Given the description of an element on the screen output the (x, y) to click on. 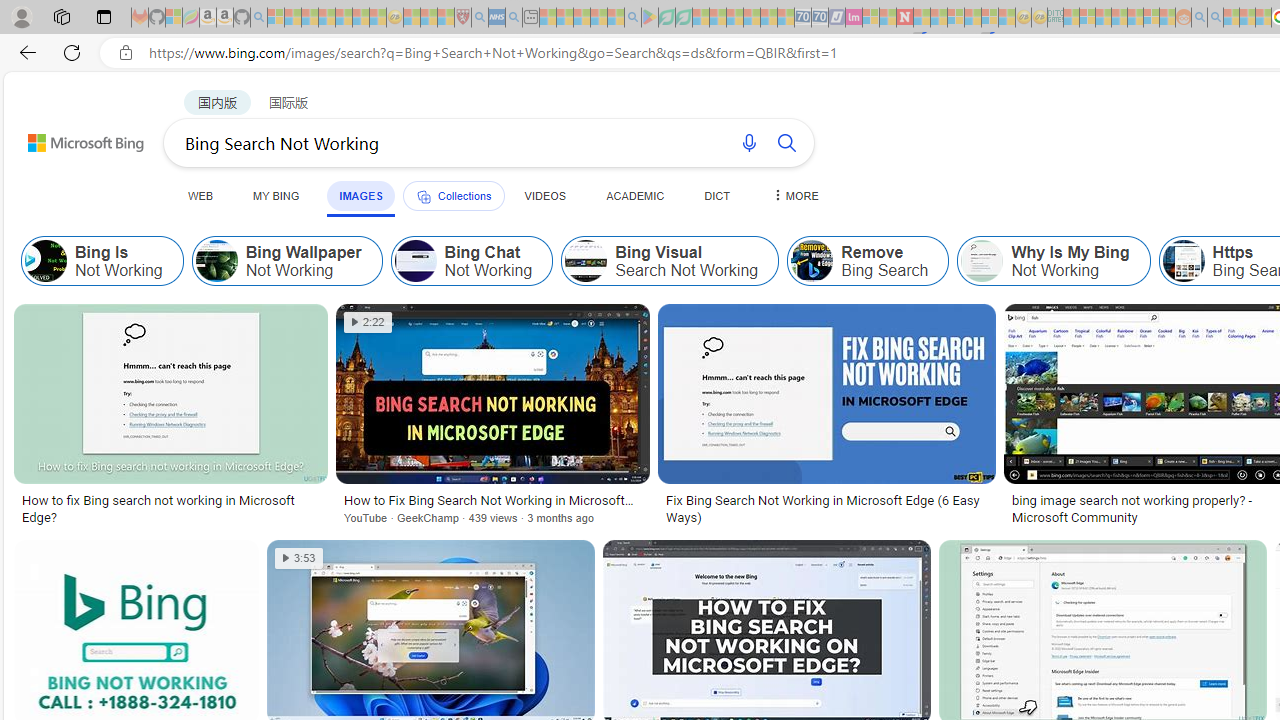
Image result for Bing Search Not Working (826, 393)
Https Bing Search (1183, 260)
MORE (793, 195)
Remove Bing Search (812, 260)
How to fix Bing search not working in Microsoft Edge? (170, 508)
